Given the description of an element on the screen output the (x, y) to click on. 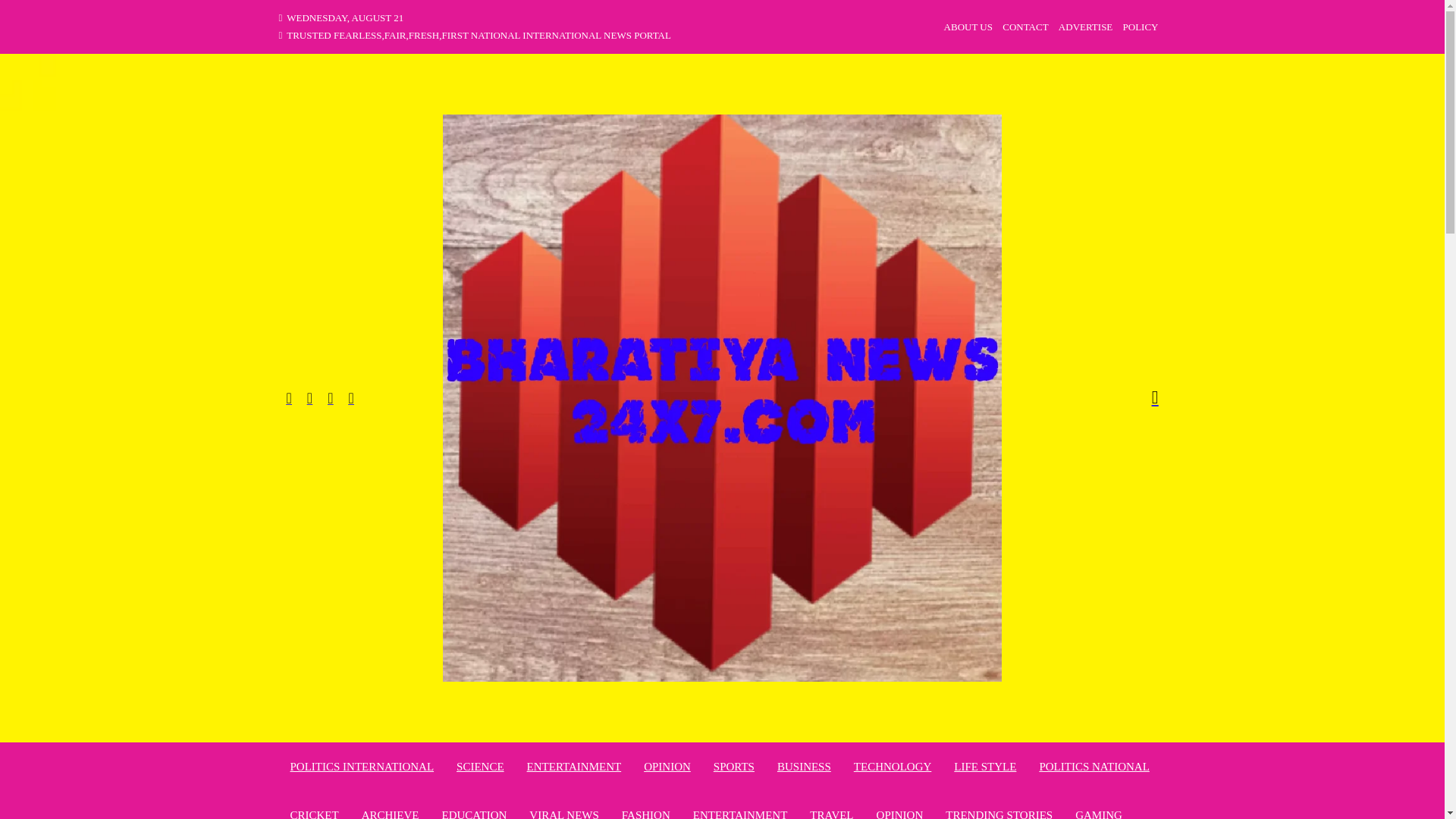
GAMING (1098, 811)
cricket (313, 811)
TECHNOLOGY (892, 766)
LIFE STYLE (984, 766)
FASHION (645, 811)
ADVERTISE (1085, 26)
ABOUT US (967, 26)
Viral News (563, 811)
OPINION (899, 811)
BUSINESS (804, 766)
